Given the description of an element on the screen output the (x, y) to click on. 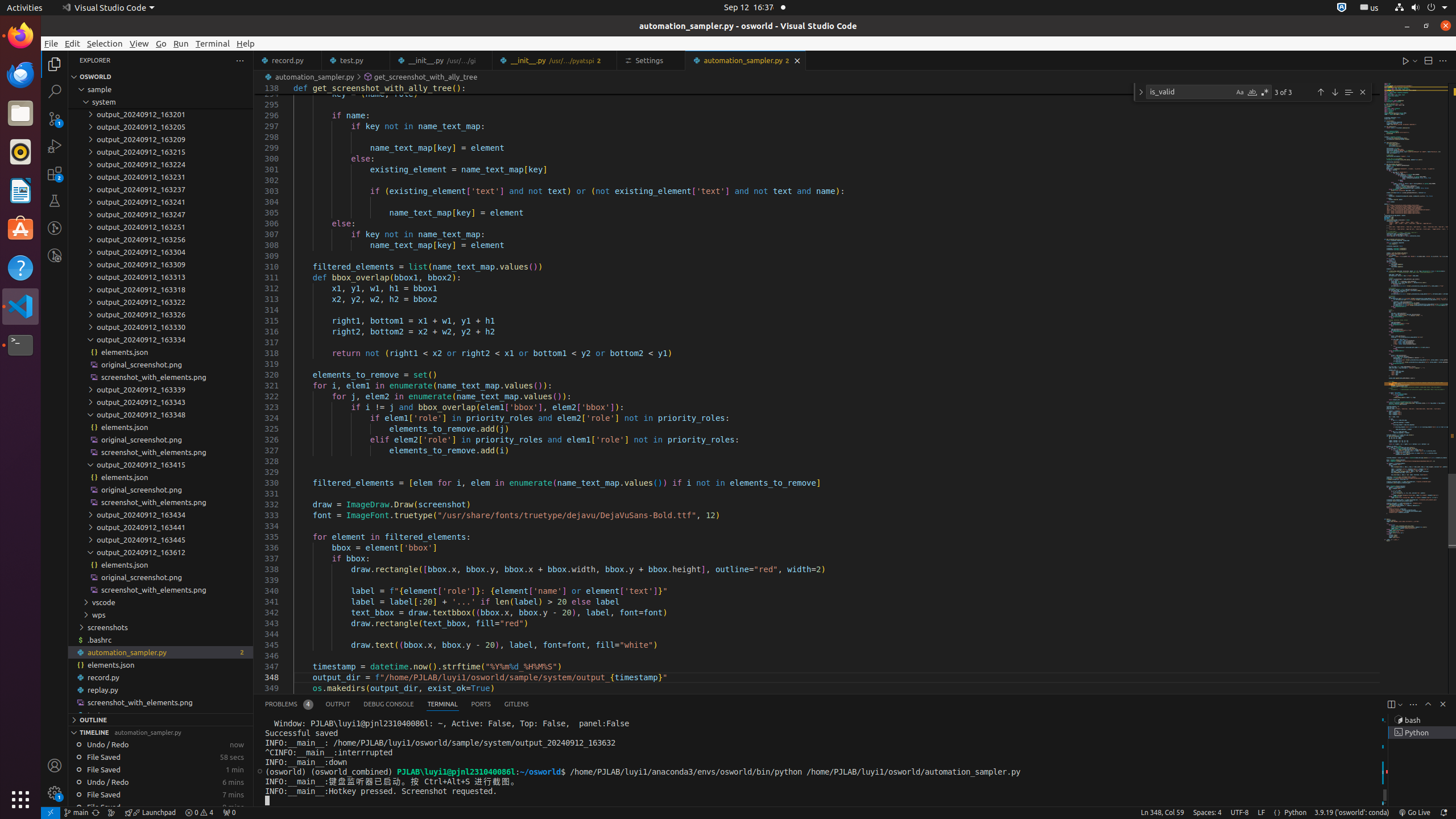
Extensions (Ctrl+Shift+X) - 2 require restart Extensions (Ctrl+Shift+X) - 2 require restart Element type: page-tab (54, 173)
Python Element type: push-button (1295, 812)
Hide Panel Element type: push-button (1442, 703)
Terminal Element type: push-button (20, 344)
Outline Section Element type: push-button (160, 719)
